Given the description of an element on the screen output the (x, y) to click on. 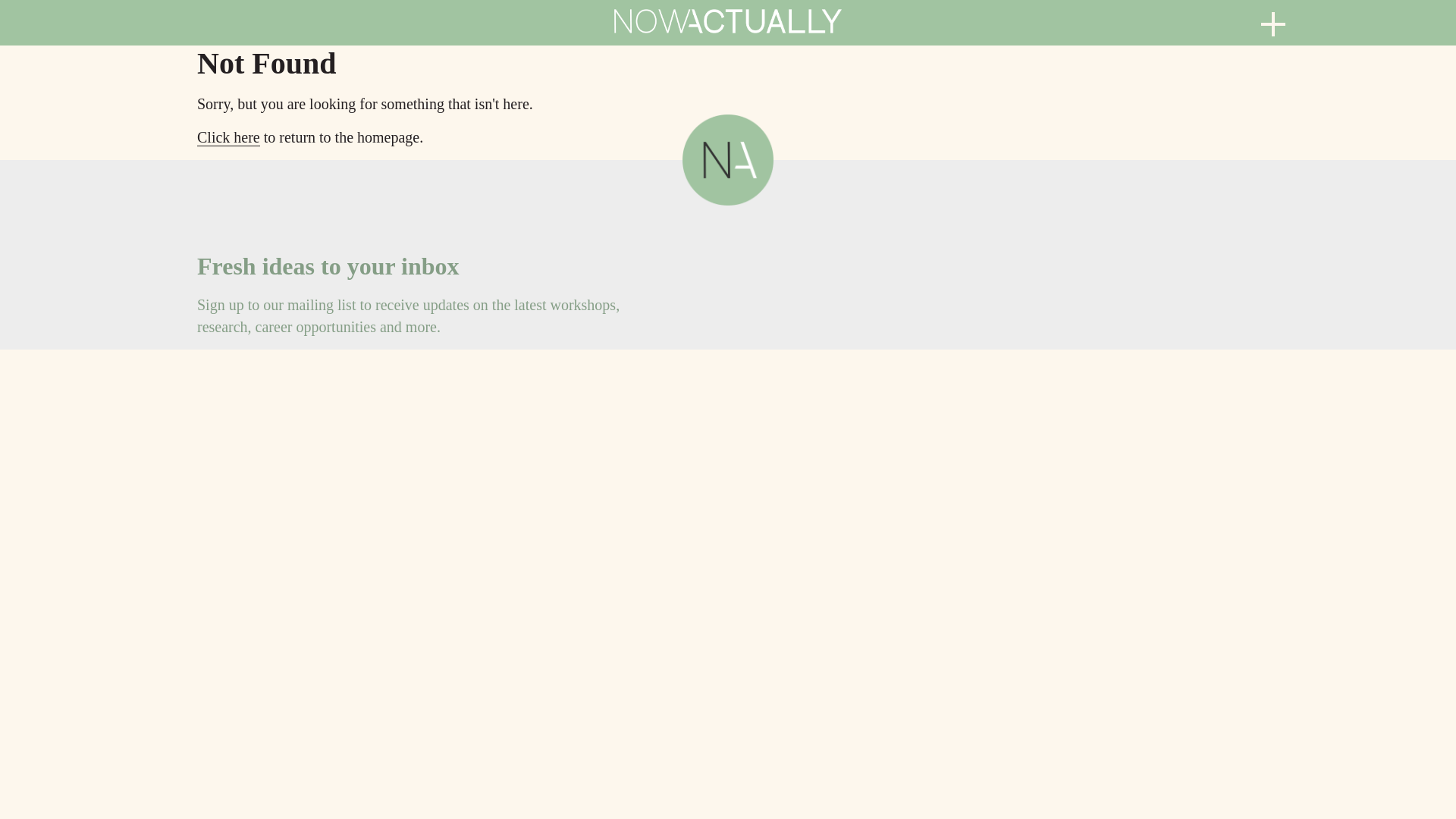
Click here (228, 137)
